Given the description of an element on the screen output the (x, y) to click on. 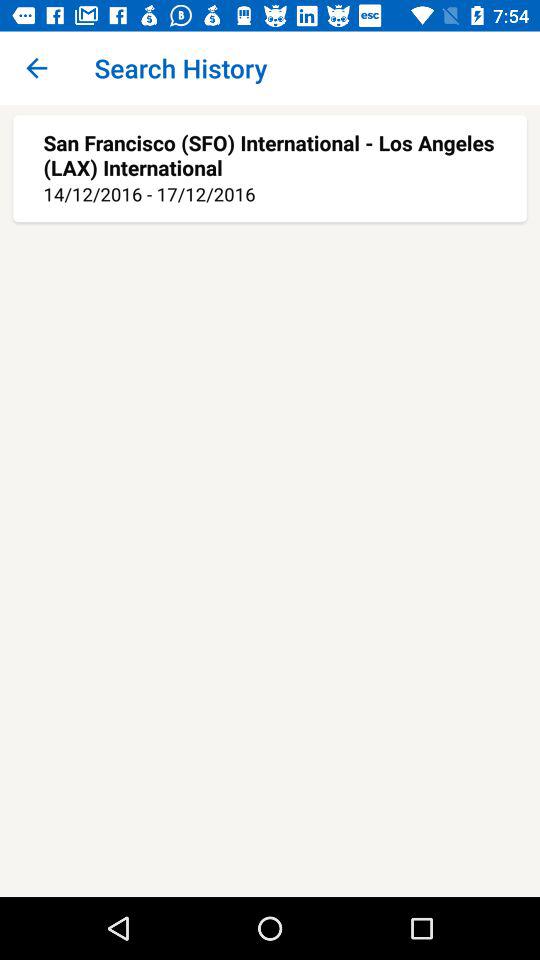
tap 14 12 2016 (269, 193)
